Given the description of an element on the screen output the (x, y) to click on. 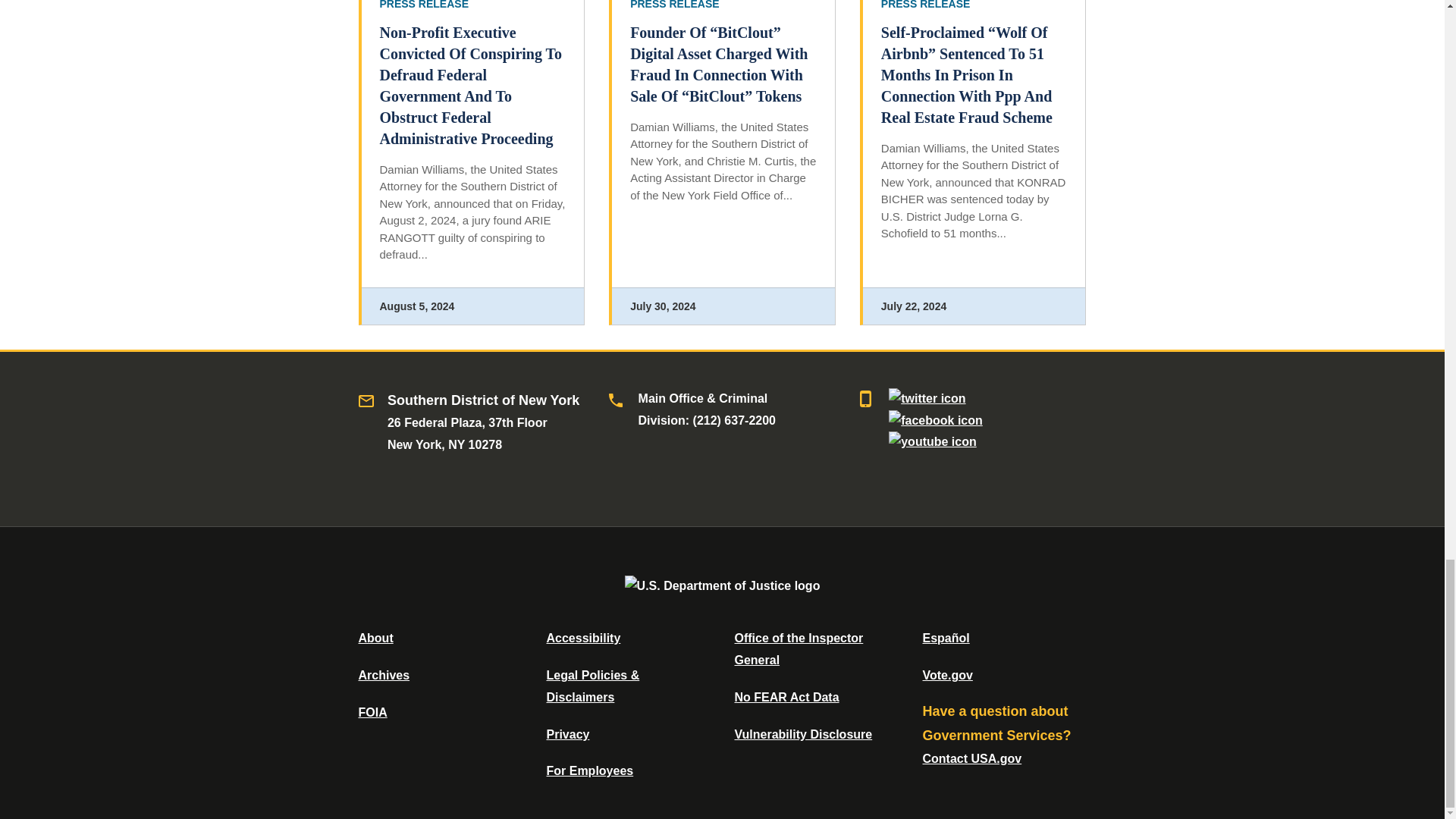
Legal Policies and Disclaimers (592, 686)
Accessibility Statement (583, 637)
For Employees (589, 770)
Data Posted Pursuant To The No Fear Act (785, 697)
About DOJ (375, 637)
Department of Justice Archive (383, 675)
Office of Information Policy (372, 712)
